Given the description of an element on the screen output the (x, y) to click on. 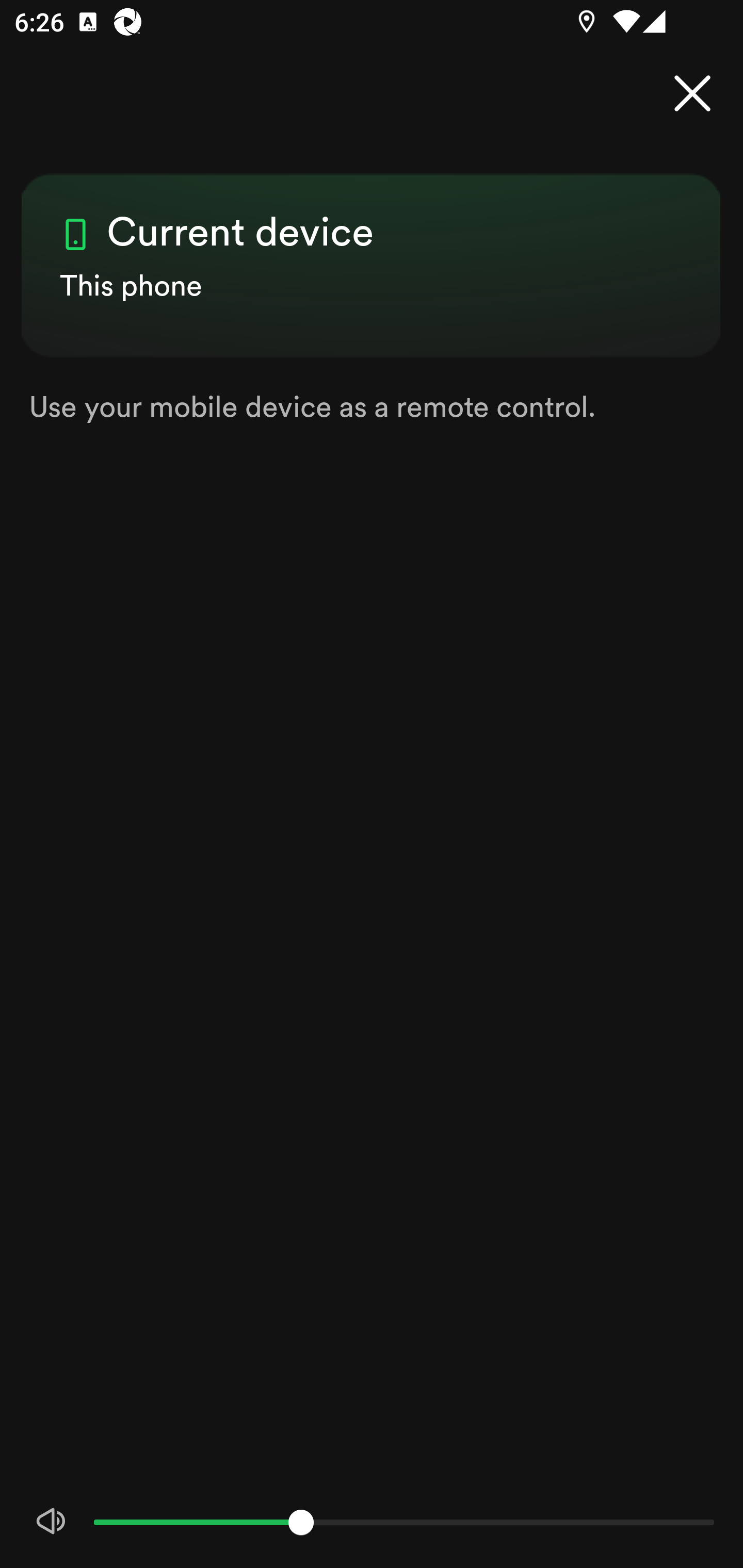
Close (692, 93)
Current device This phone (371, 247)
